Given the description of an element on the screen output the (x, y) to click on. 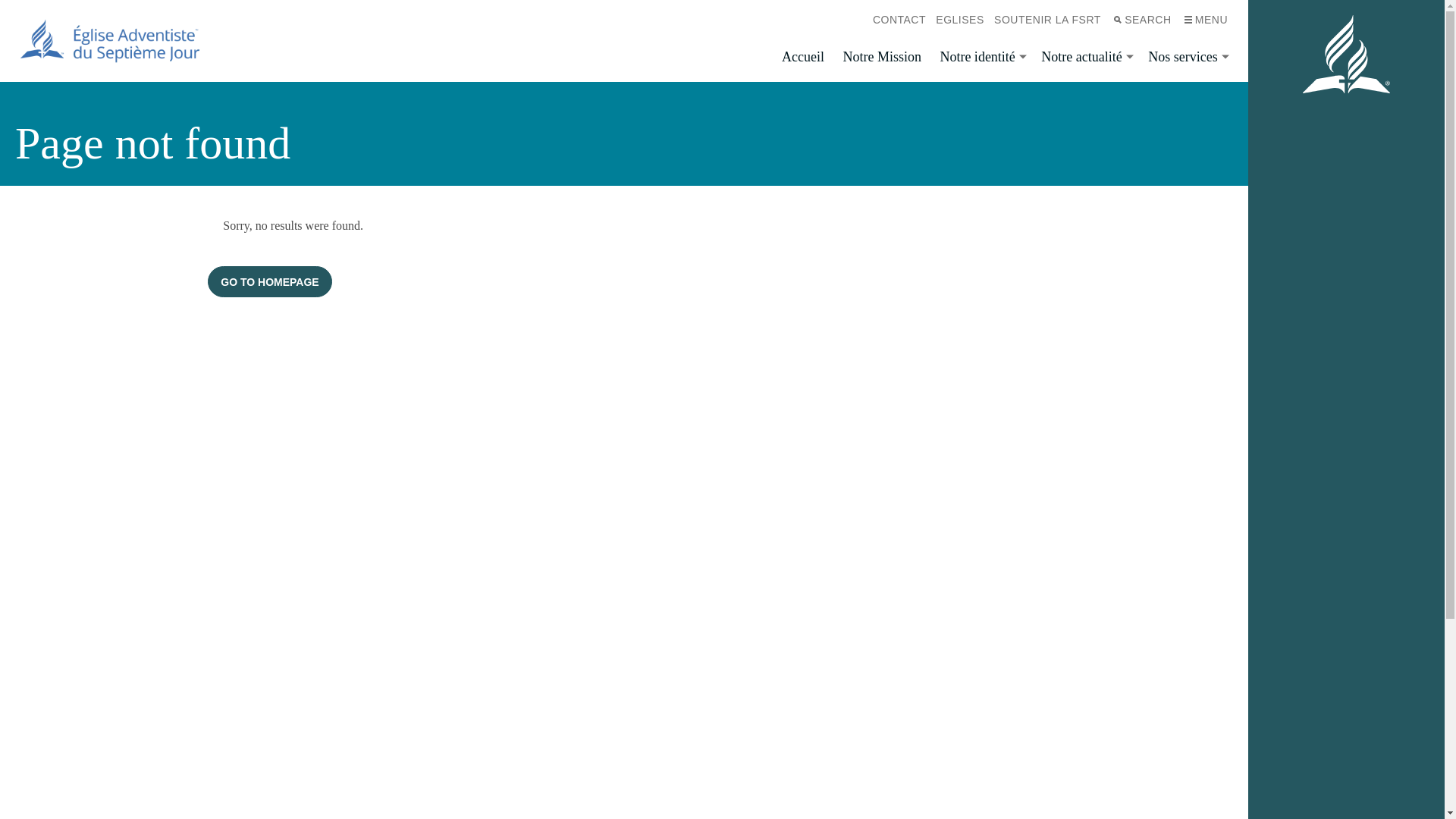
CONTACT Element type: text (898, 20)
Nos services Element type: text (1186, 57)
GO TO HOMEPAGE Element type: text (269, 281)
MENU Element type: text (1204, 20)
EGLISES Element type: text (960, 20)
Accueil Element type: text (802, 57)
SOUTENIR LA FSRT Element type: text (1046, 20)
SEARCH Element type: text (1140, 20)
Notre Mission Element type: text (881, 57)
